Given the description of an element on the screen output the (x, y) to click on. 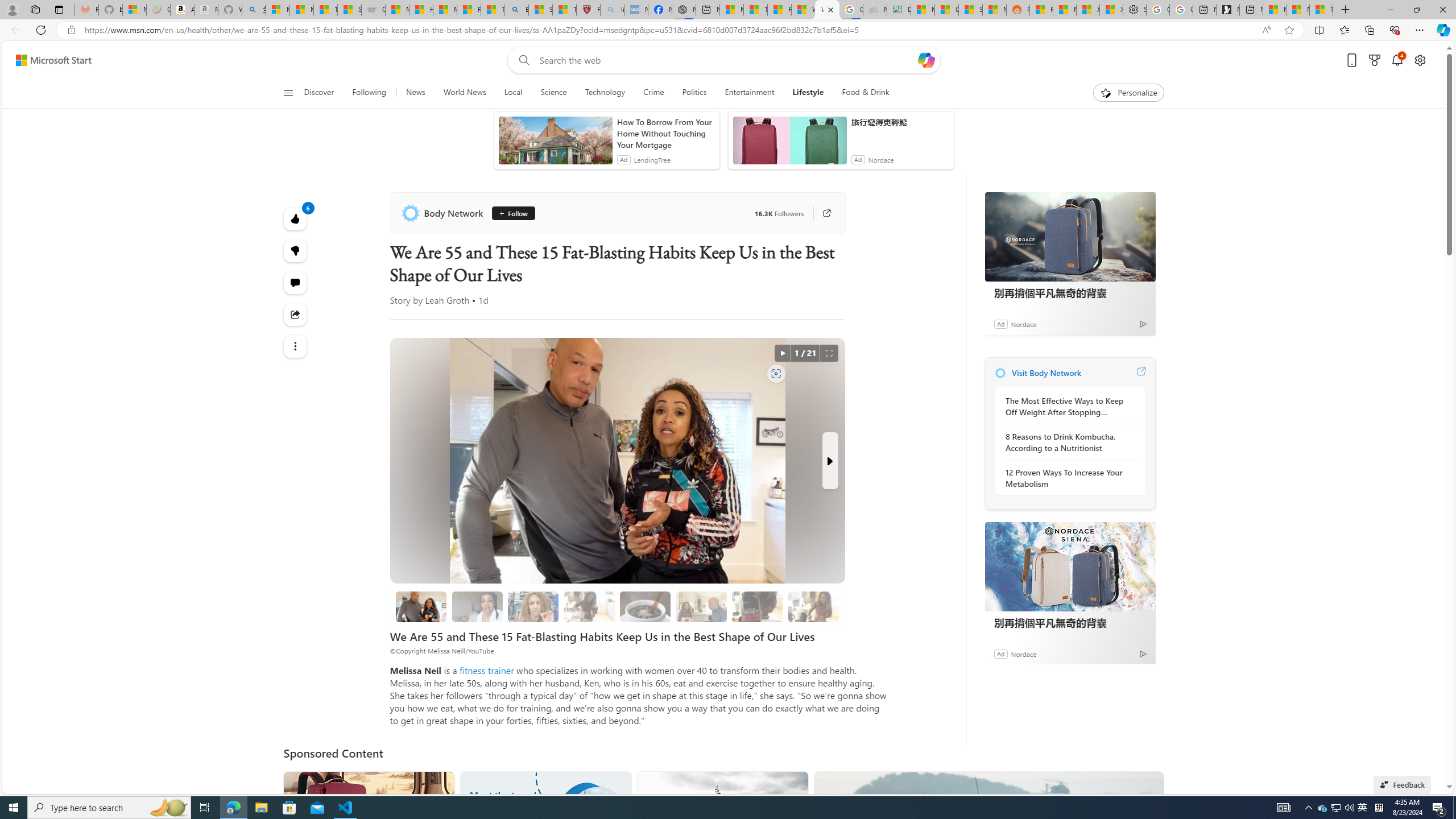
fitness trainer (486, 670)
autorotate button (782, 352)
Share this story (295, 314)
R******* | Trusted Community Engagement and Contributions (1041, 9)
